Given the description of an element on the screen output the (x, y) to click on. 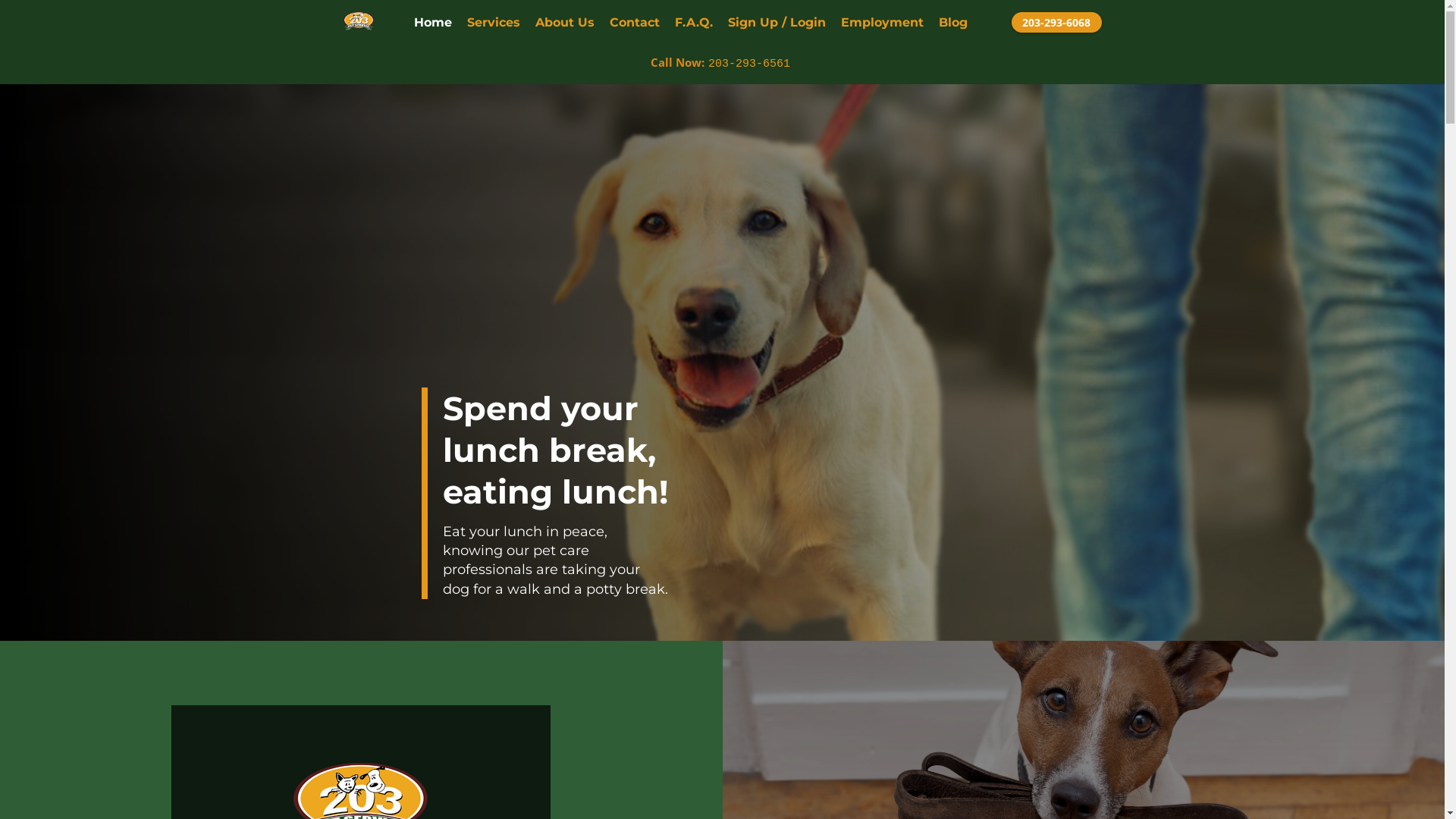
Contact Element type: text (634, 22)
203-293-6068 Element type: text (1056, 22)
About Us Element type: text (564, 22)
F.A.Q. Element type: text (693, 22)
Services Element type: text (493, 22)
Sign Up / Login Element type: text (776, 22)
Home Element type: text (432, 22)
Blog Element type: text (952, 22)
Employment Element type: text (881, 22)
203-293-6561 Element type: text (749, 63)
